Given the description of an element on the screen output the (x, y) to click on. 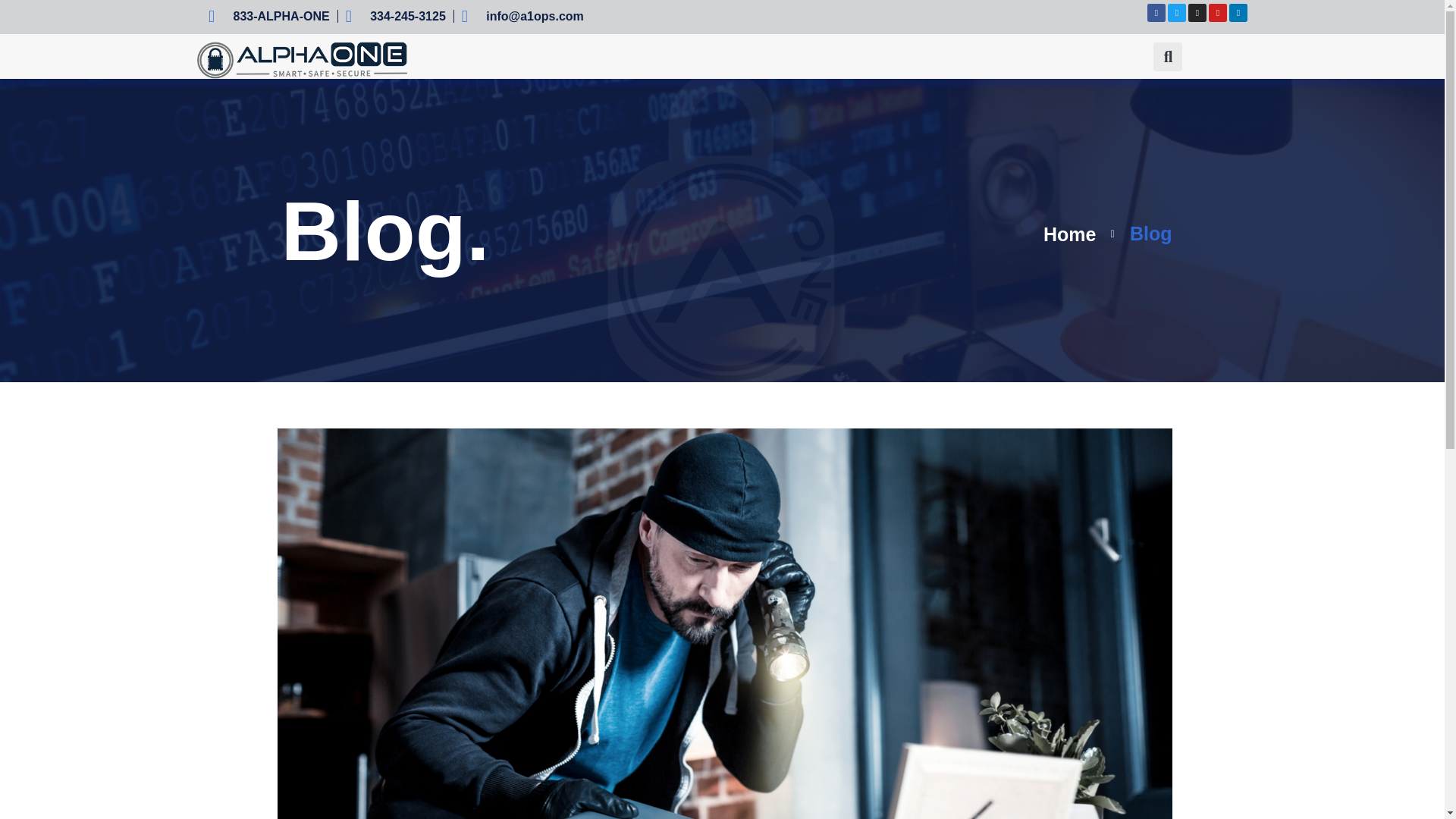
833-ALPHA-ONE (269, 15)
Home (1069, 234)
Blog (1136, 233)
334-245-3125 (395, 15)
